Given the description of an element on the screen output the (x, y) to click on. 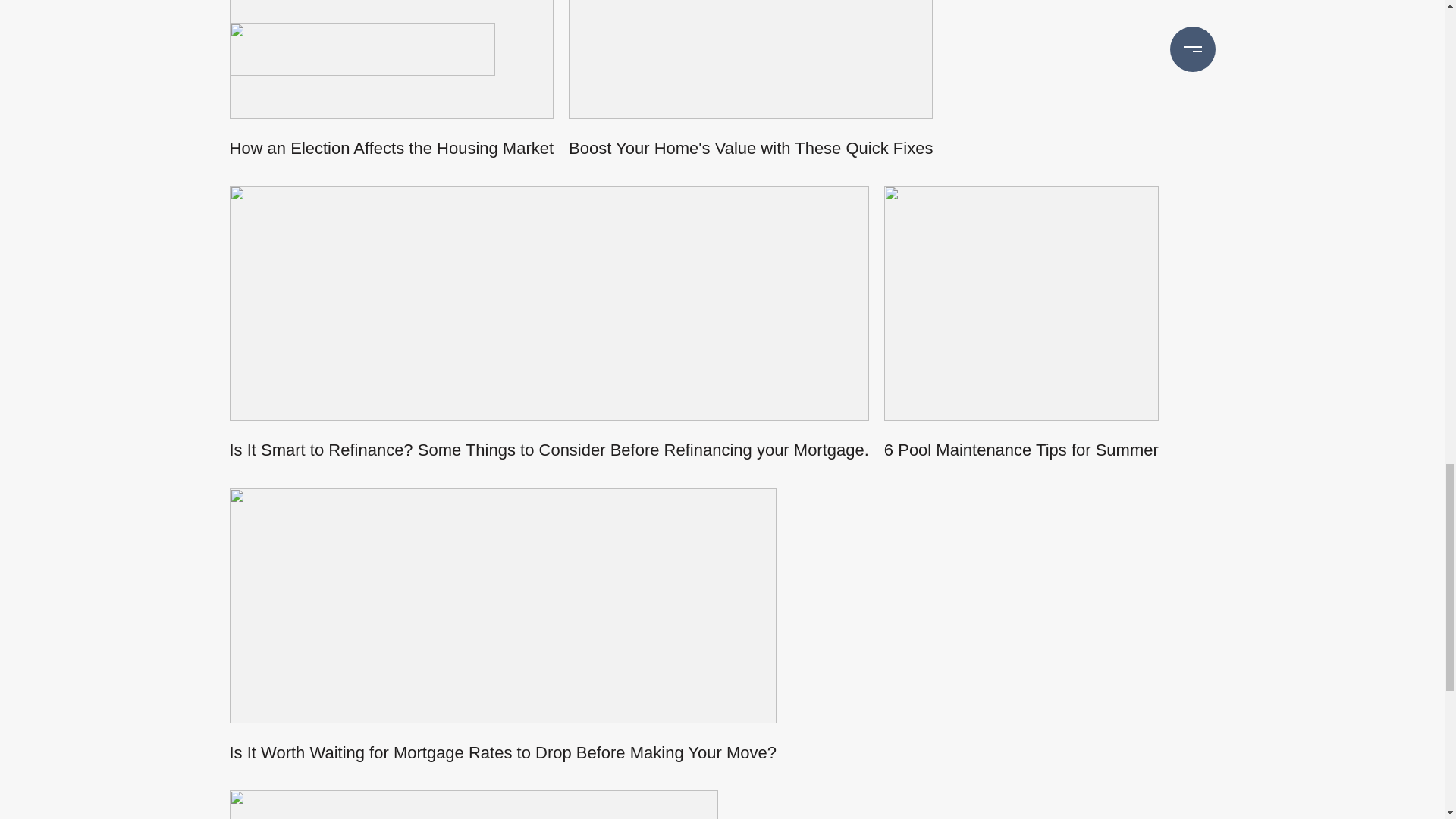
6 Pool Maintenance Tips for Summer (1020, 336)
How an Election Affects the Housing Market (390, 93)
Boost Your Home's Value with These Quick Fixes (751, 93)
